Given the description of an element on the screen output the (x, y) to click on. 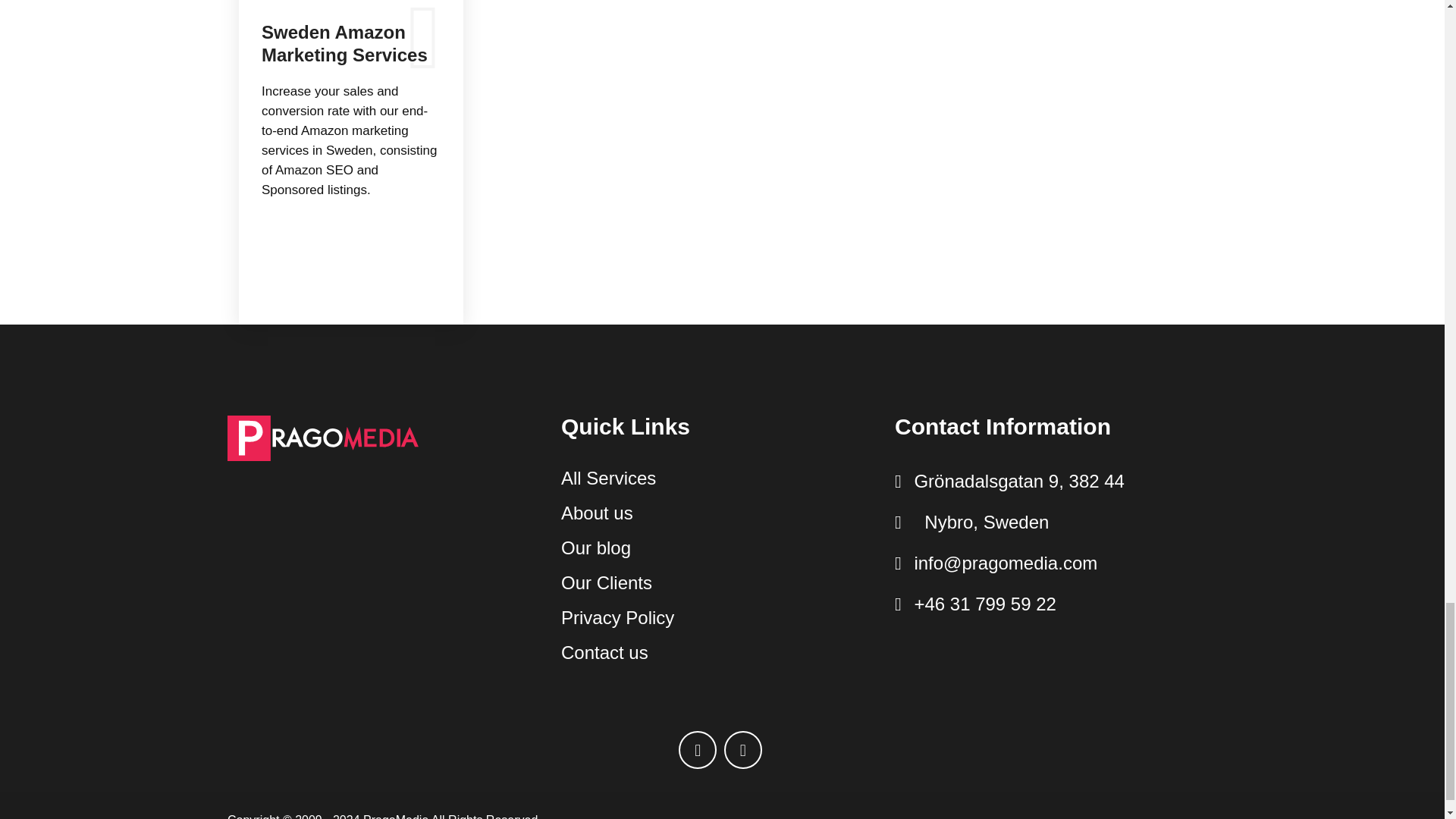
Company Profile on Linkedin (742, 750)
Find us on Facebook (697, 750)
